Given the description of an element on the screen output the (x, y) to click on. 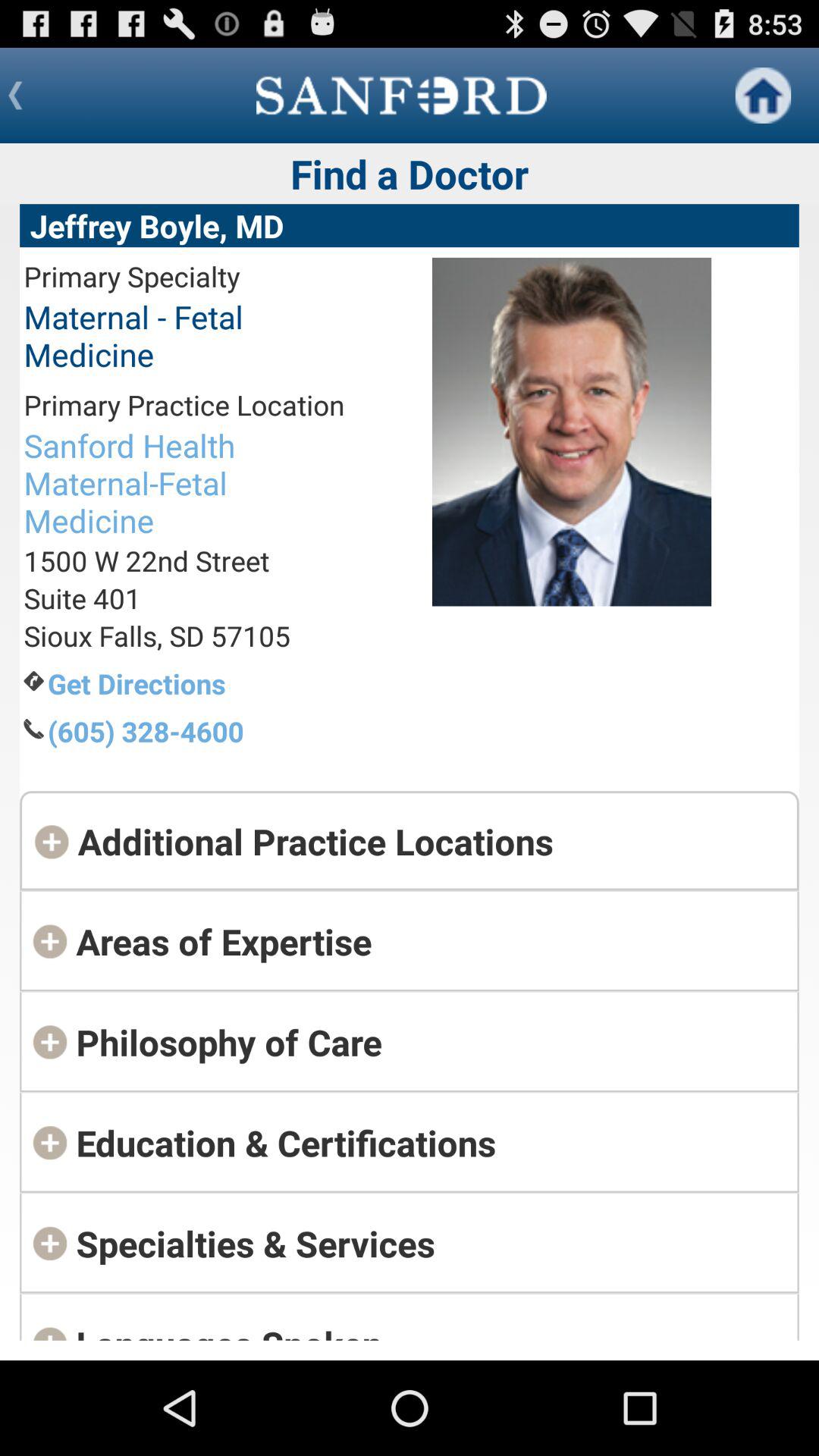
launch the icon below the sioux falls sd item (195, 683)
